Given the description of an element on the screen output the (x, y) to click on. 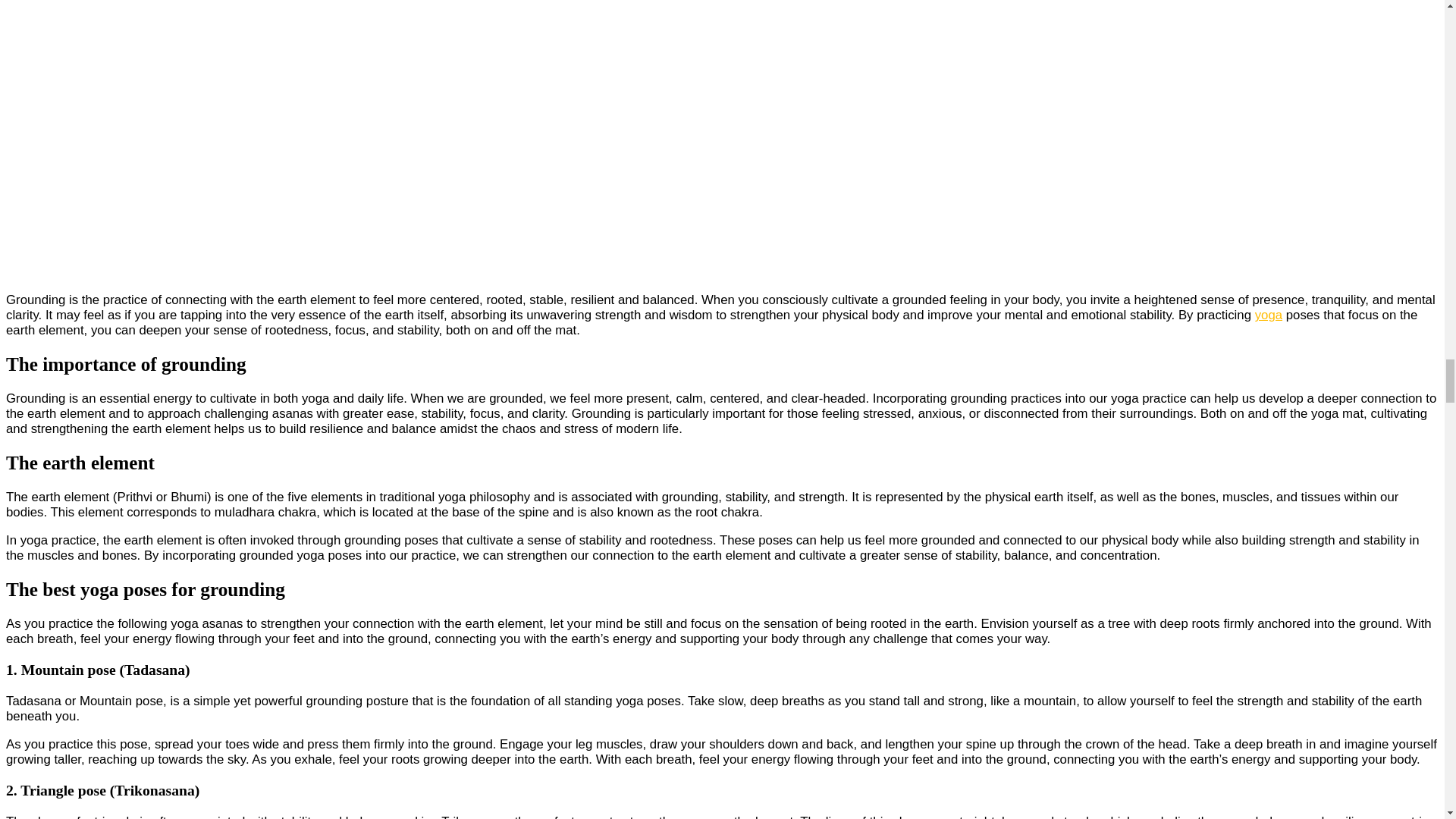
yoga (1268, 314)
